Given the description of an element on the screen output the (x, y) to click on. 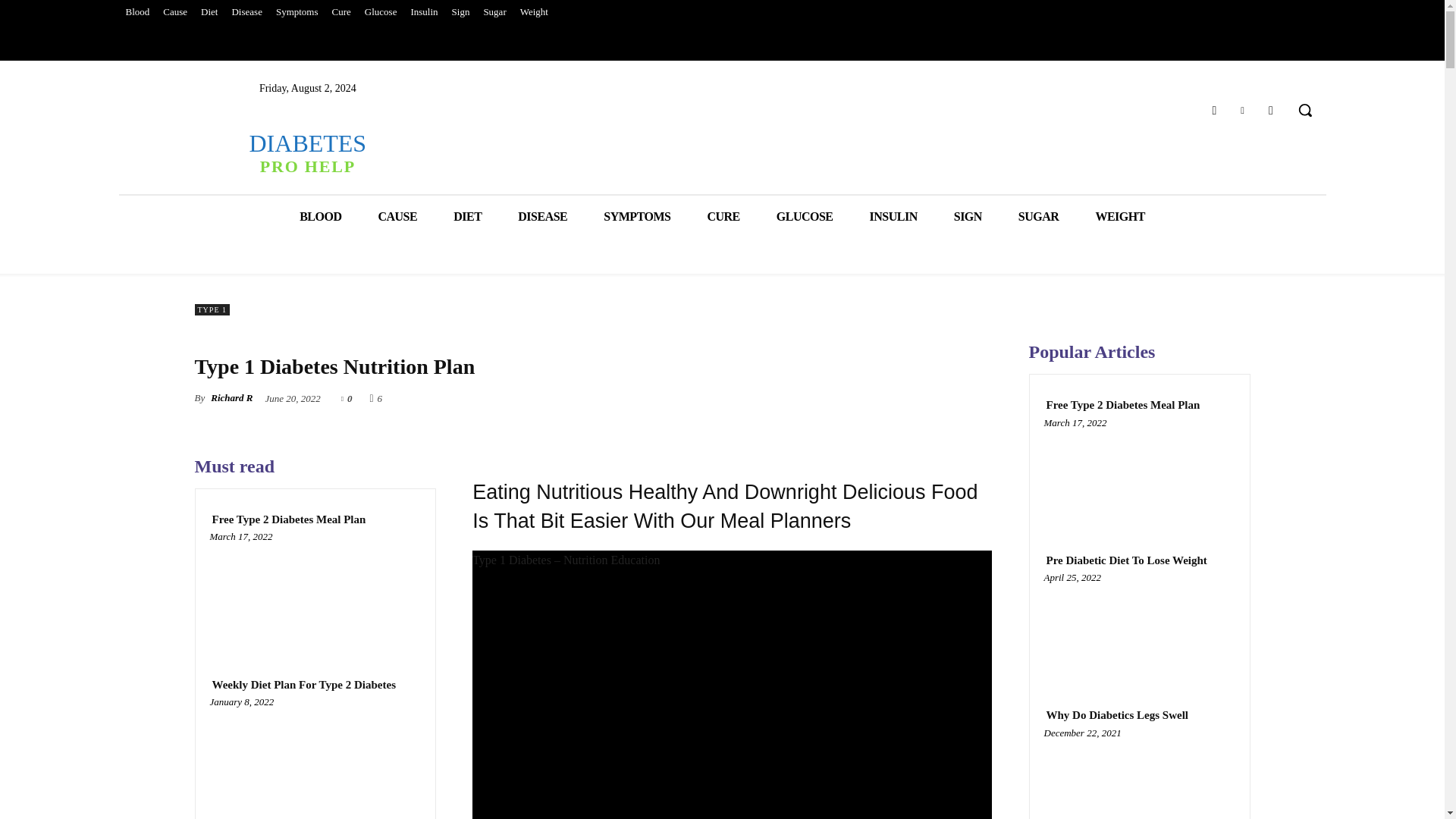
WEIGHT (1119, 216)
Glucose (381, 12)
CAUSE (397, 216)
Sign (461, 12)
DIET (467, 216)
Cure (341, 12)
Free Type 2 Diabetes Meal Plan (288, 519)
Sugar (494, 12)
GLUCOSE (804, 216)
Weekly Diet Plan For Type 2 Diabetes (303, 684)
Symptoms (296, 12)
SYMPTOMS (636, 216)
Blood (136, 12)
Disease (245, 12)
CURE (722, 216)
